Given the description of an element on the screen output the (x, y) to click on. 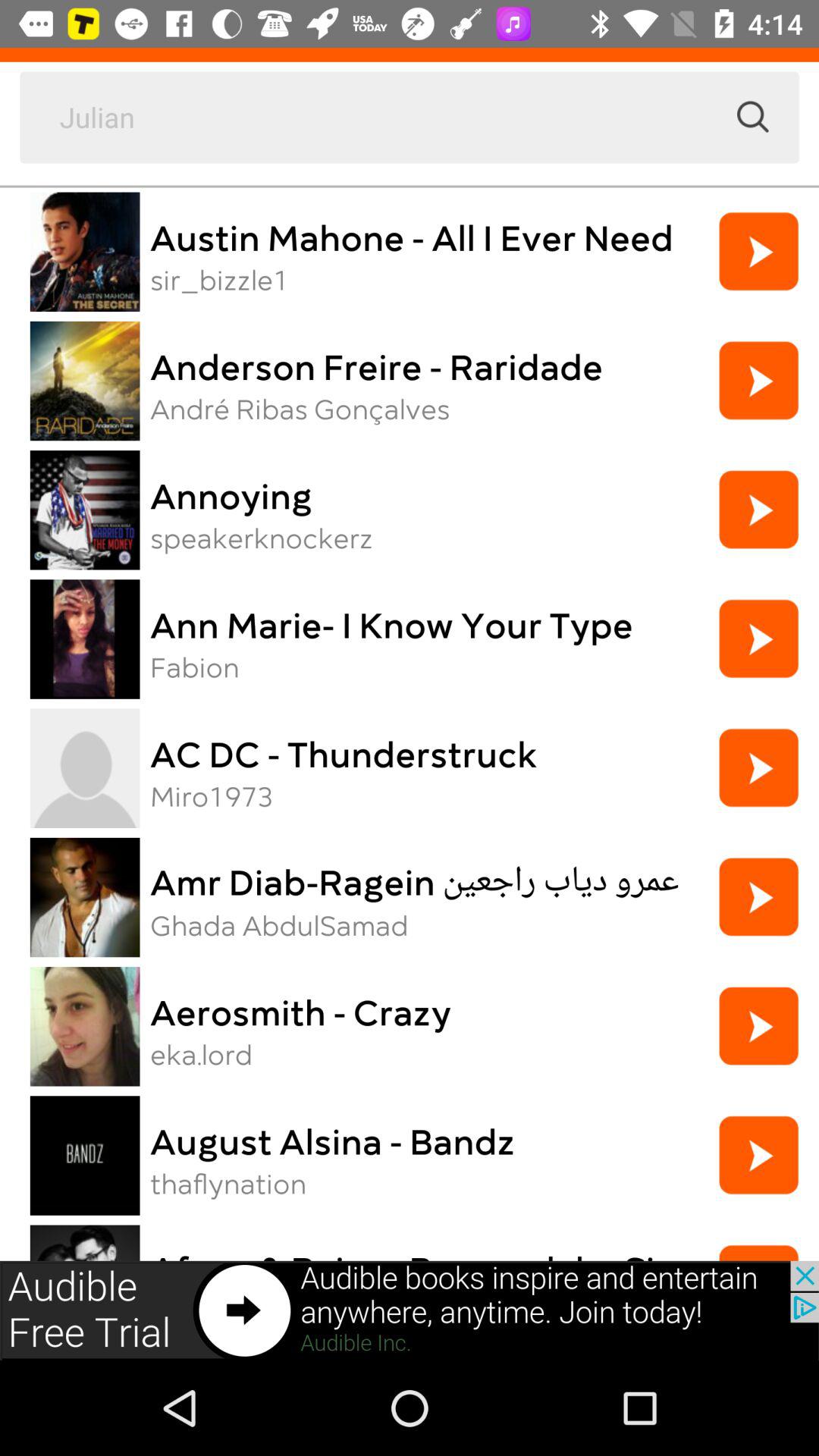
open advertisements (409, 1310)
